Given the description of an element on the screen output the (x, y) to click on. 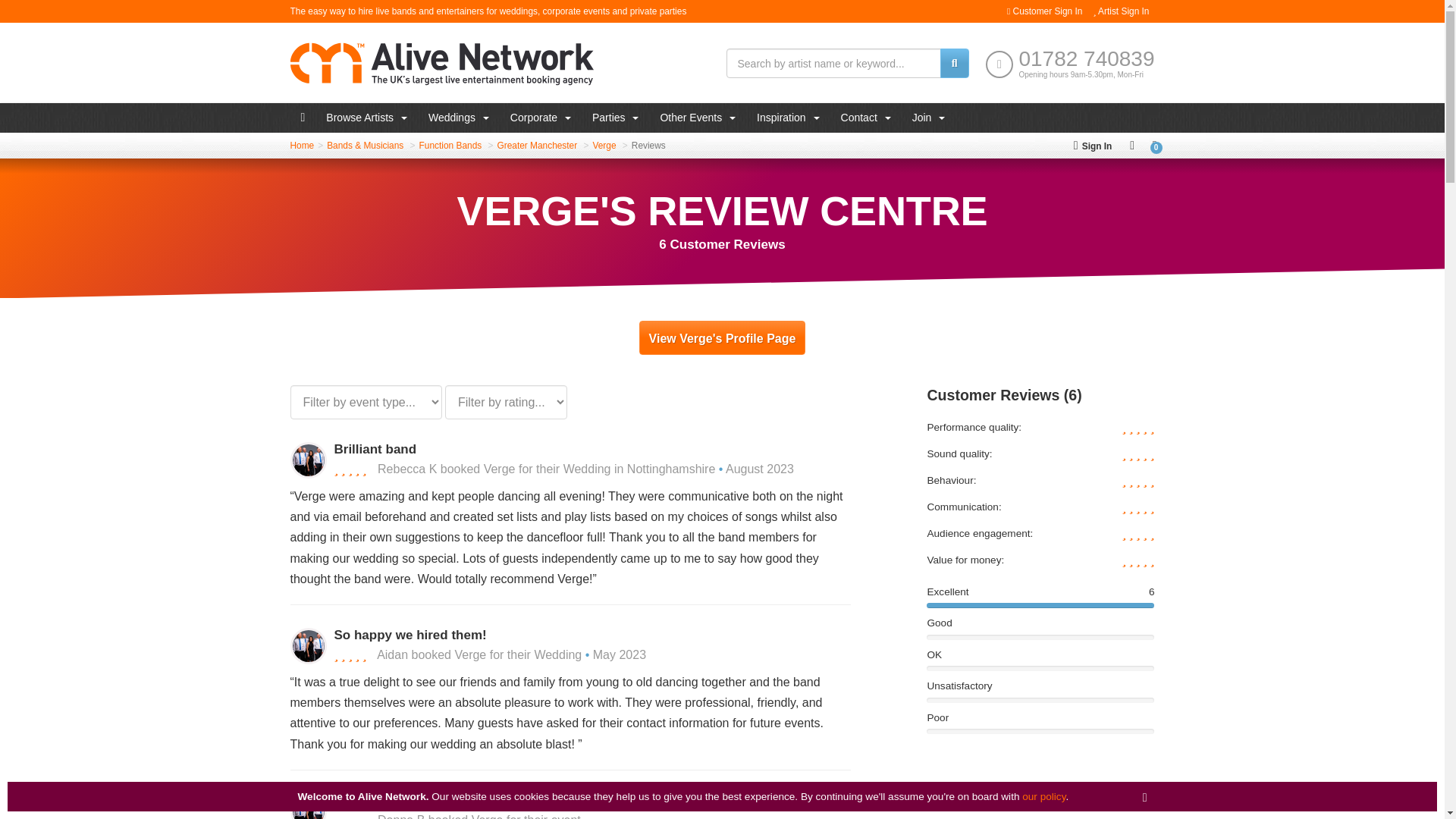
Function Bands (450, 145)
View Verge's Profile Page (722, 337)
View Reviews (648, 145)
Search the site by keyword (954, 62)
Join (928, 117)
Browse Artists (366, 117)
Artist Sign In (1120, 11)
Customer Sign In (1044, 11)
Weddings (458, 117)
Greater Manchester (536, 145)
View artists in Greater Manchester (536, 145)
Contact (865, 117)
Corporate (539, 117)
Sign to My Alive Network Account (1092, 145)
Inspiration (787, 117)
